Given the description of an element on the screen output the (x, y) to click on. 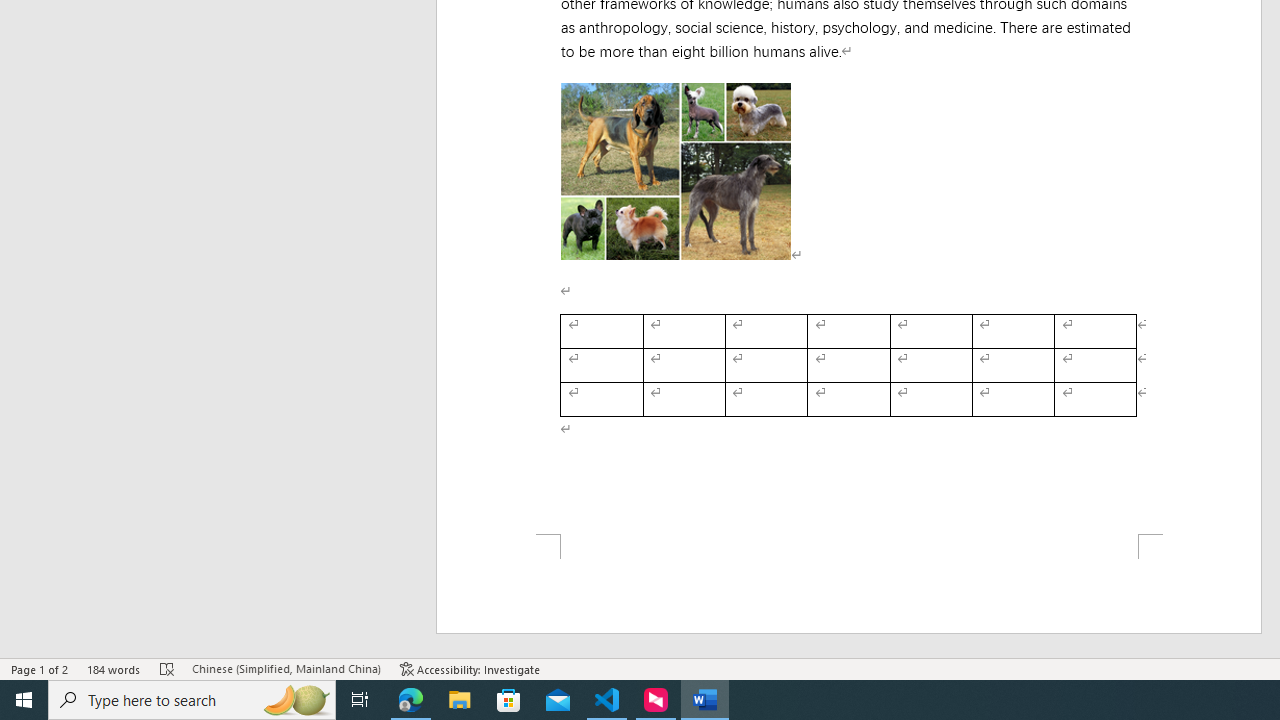
Spelling and Grammar Check Errors (168, 668)
Page Number Page 1 of 2 (39, 668)
Morphological variation in six dogs (675, 170)
Accessibility Checker Accessibility: Investigate (470, 668)
Word Count 184 words (113, 668)
Language Chinese (Simplified, Mainland China) (286, 668)
